Given the description of an element on the screen output the (x, y) to click on. 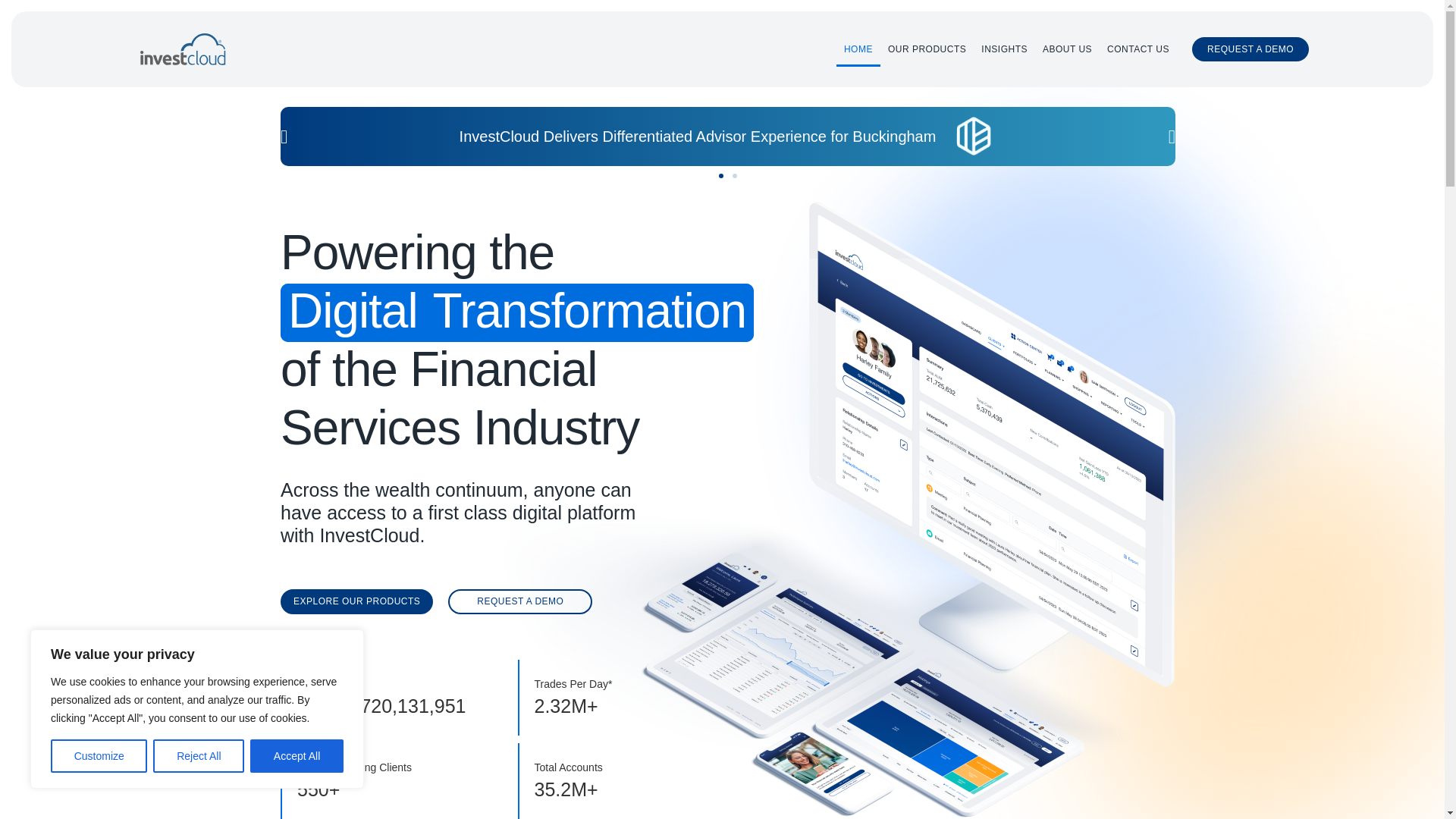
ABOUT US (1067, 48)
CONTACT US (1137, 48)
Reject All (198, 756)
Accept All (296, 756)
IC Logo (182, 48)
REQUEST A DEMO (1250, 48)
INSIGHTS (1004, 48)
OUR PRODUCTS (927, 48)
Customize (98, 756)
HOME (857, 48)
